Given the description of an element on the screen output the (x, y) to click on. 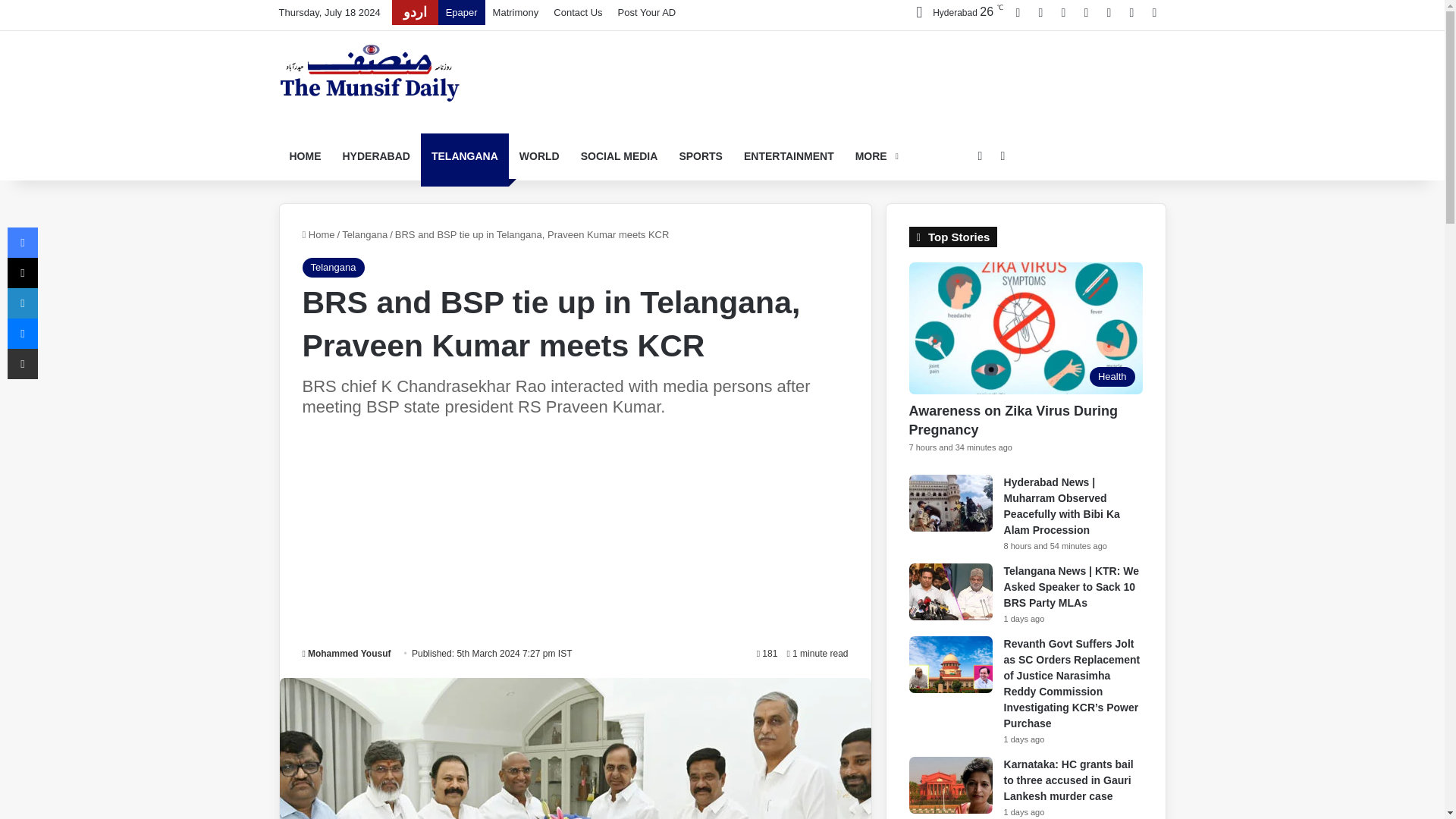
Epaper (461, 12)
WhatsApp (1131, 12)
LinkedIn (1063, 12)
Advertisement (873, 72)
Telegram (1109, 12)
Instagram (1086, 12)
TELANGANA (464, 156)
RSS (1154, 12)
Advertisement (574, 534)
Contact Us (578, 12)
Mohammed Yousuf (345, 653)
Facebook (1018, 12)
HOME (305, 156)
SOCIAL MEDIA (619, 156)
Matrimony (515, 12)
